Given the description of an element on the screen output the (x, y) to click on. 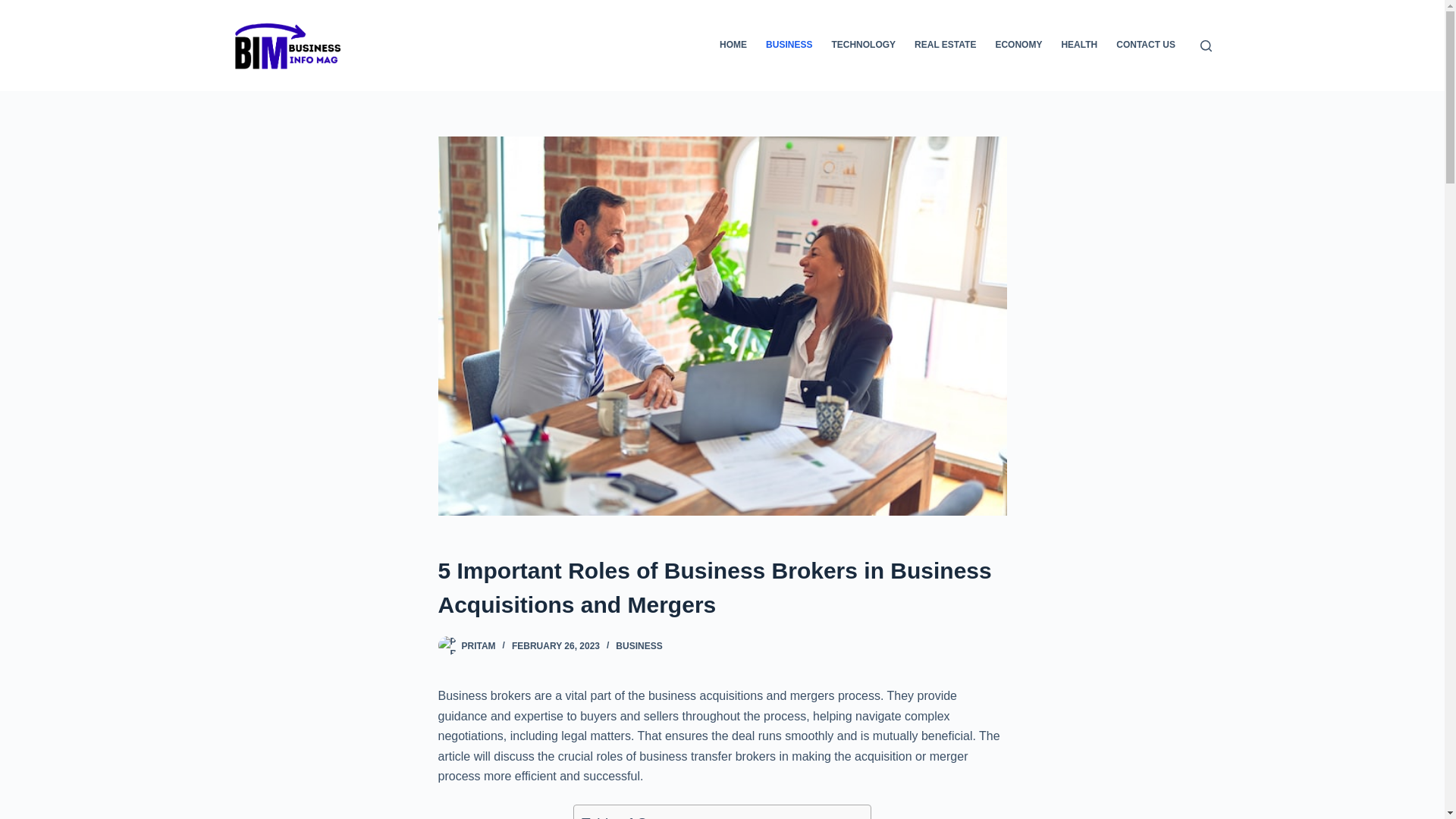
TECHNOLOGY (863, 45)
Posts by PRITAM (478, 645)
PRITAM (478, 645)
BUSINESS (638, 645)
Skip to content (15, 7)
